Given the description of an element on the screen output the (x, y) to click on. 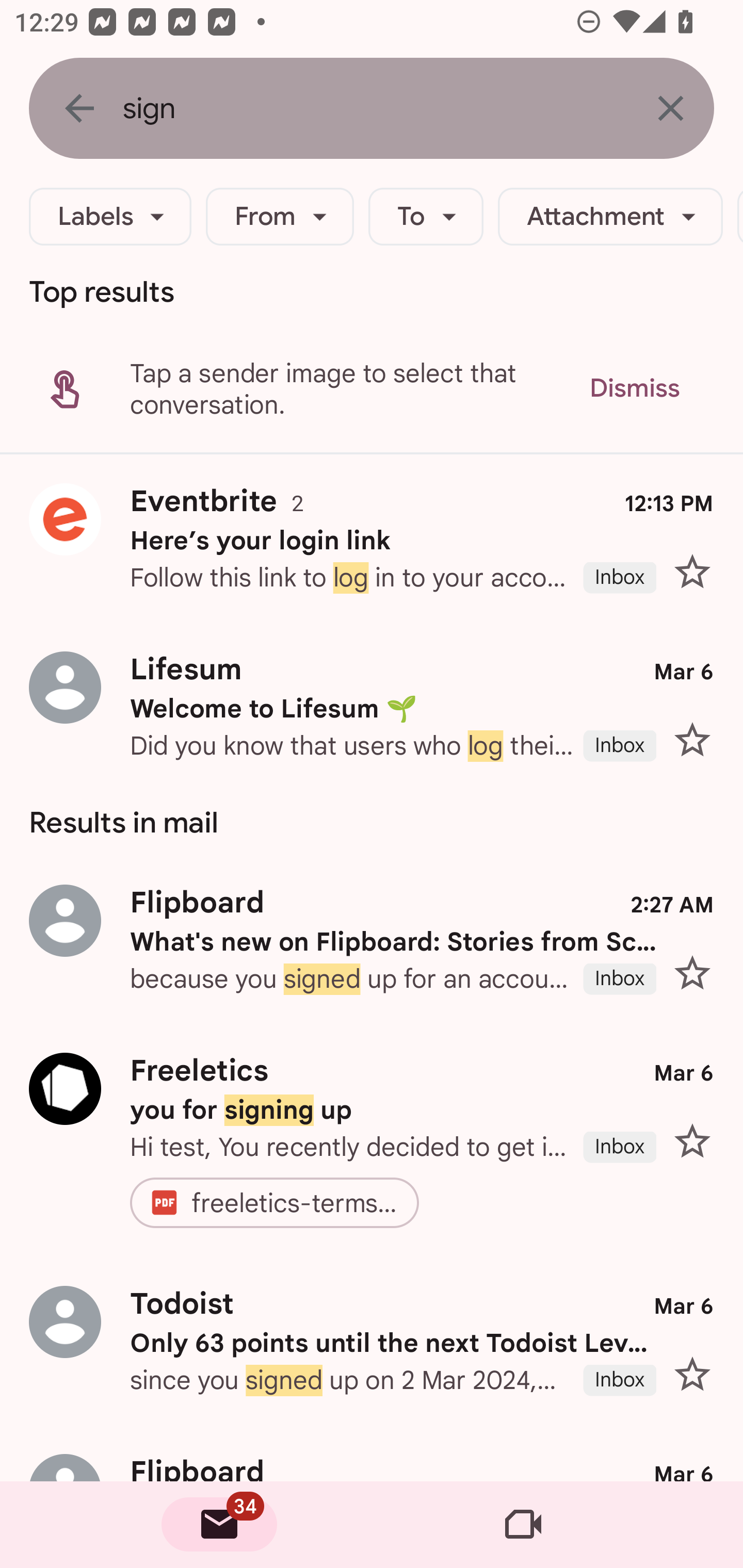
sign Navigate up sign Clear search text (371, 108)
Navigate up (79, 108)
Clear search text (670, 108)
Labels (109, 217)
From (279, 217)
To (425, 217)
Attachment (609, 217)
Dismiss Dismiss tip (634, 387)
freeletics-terms-en (296, 1202)
Meet (523, 1524)
